Given the description of an element on the screen output the (x, y) to click on. 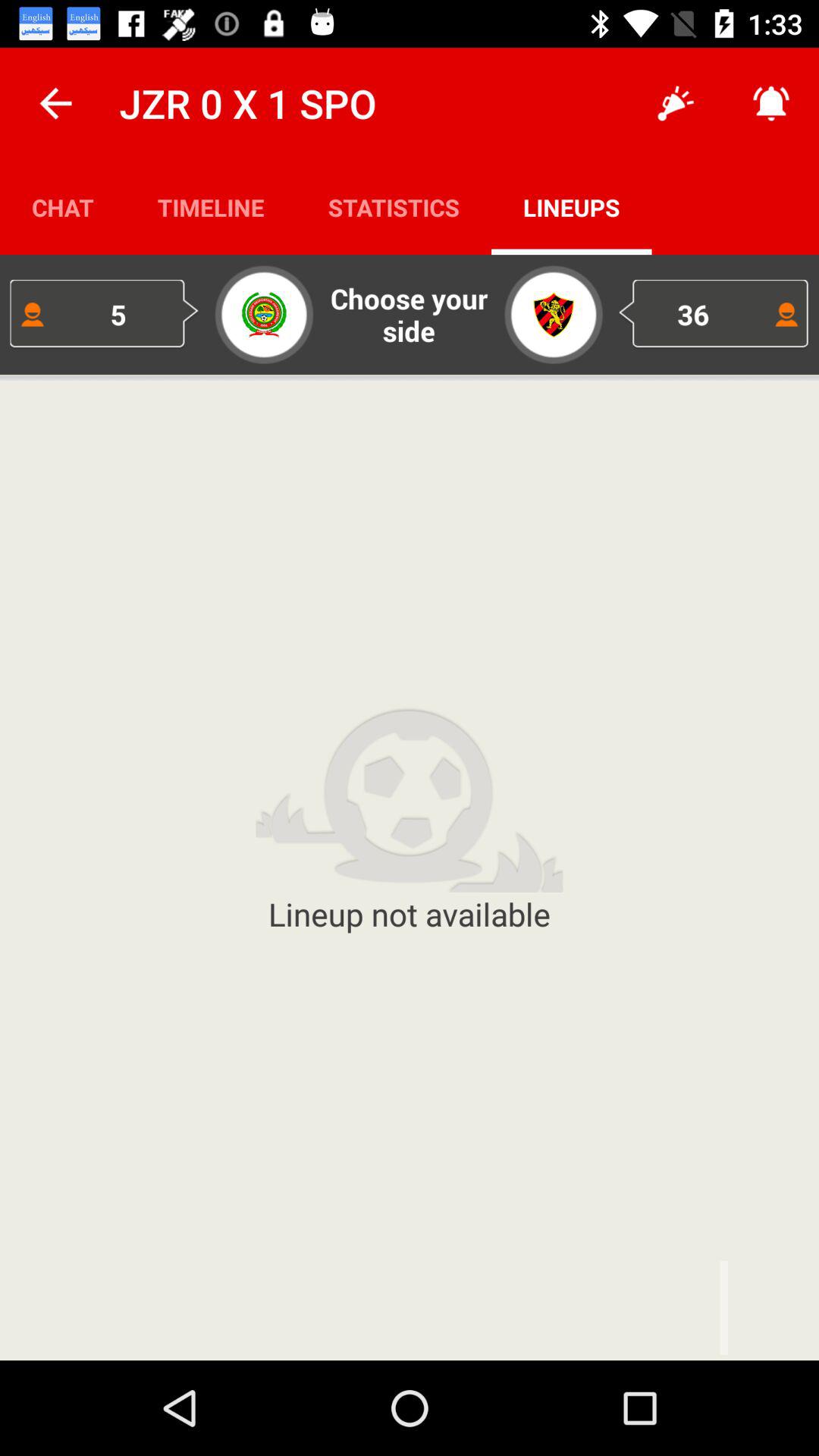
turn off the icon next to statistics (571, 206)
